Given the description of an element on the screen output the (x, y) to click on. 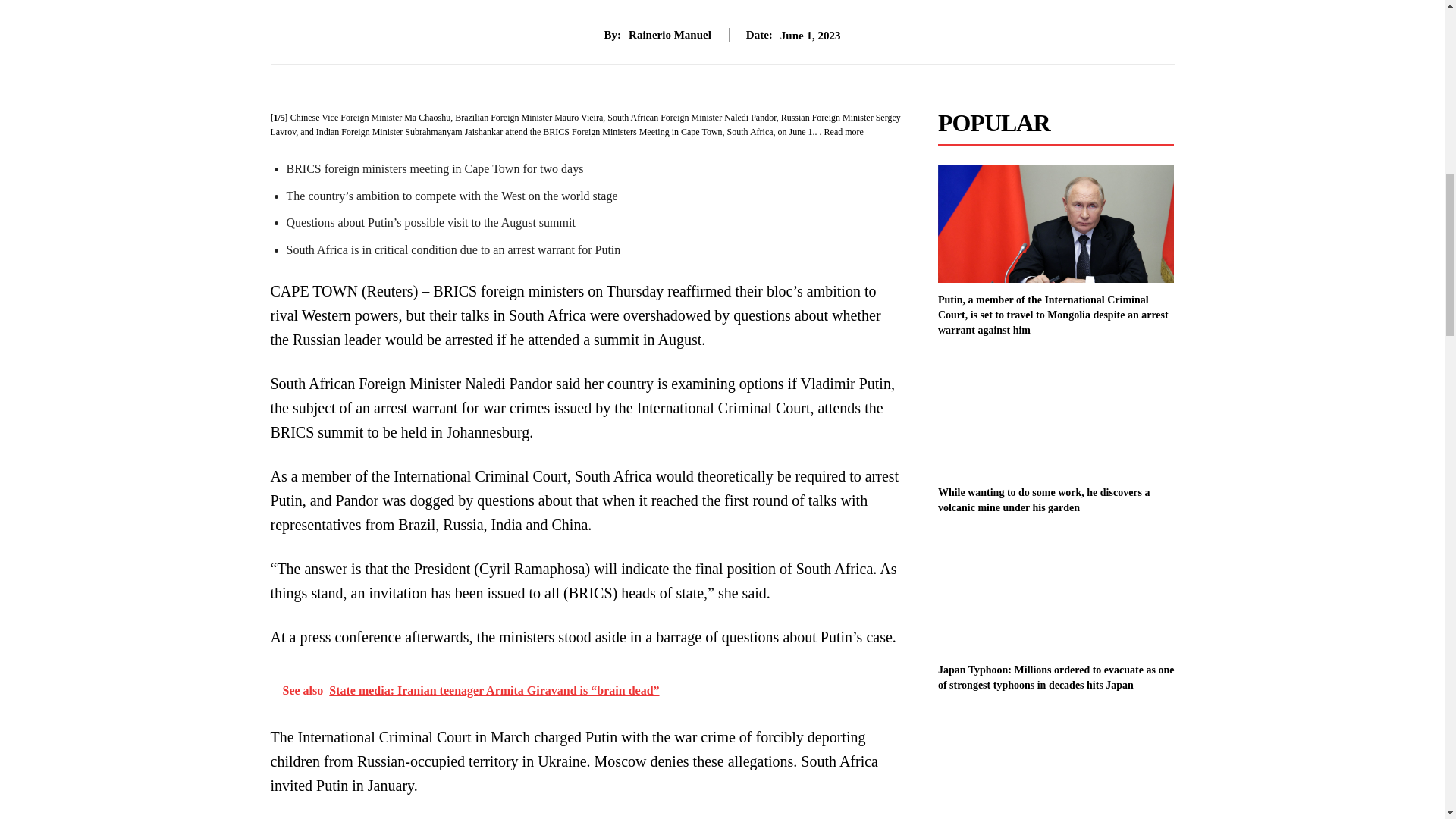
After the fire, Athens faces the effects of deforestation (1055, 765)
